Given the description of an element on the screen output the (x, y) to click on. 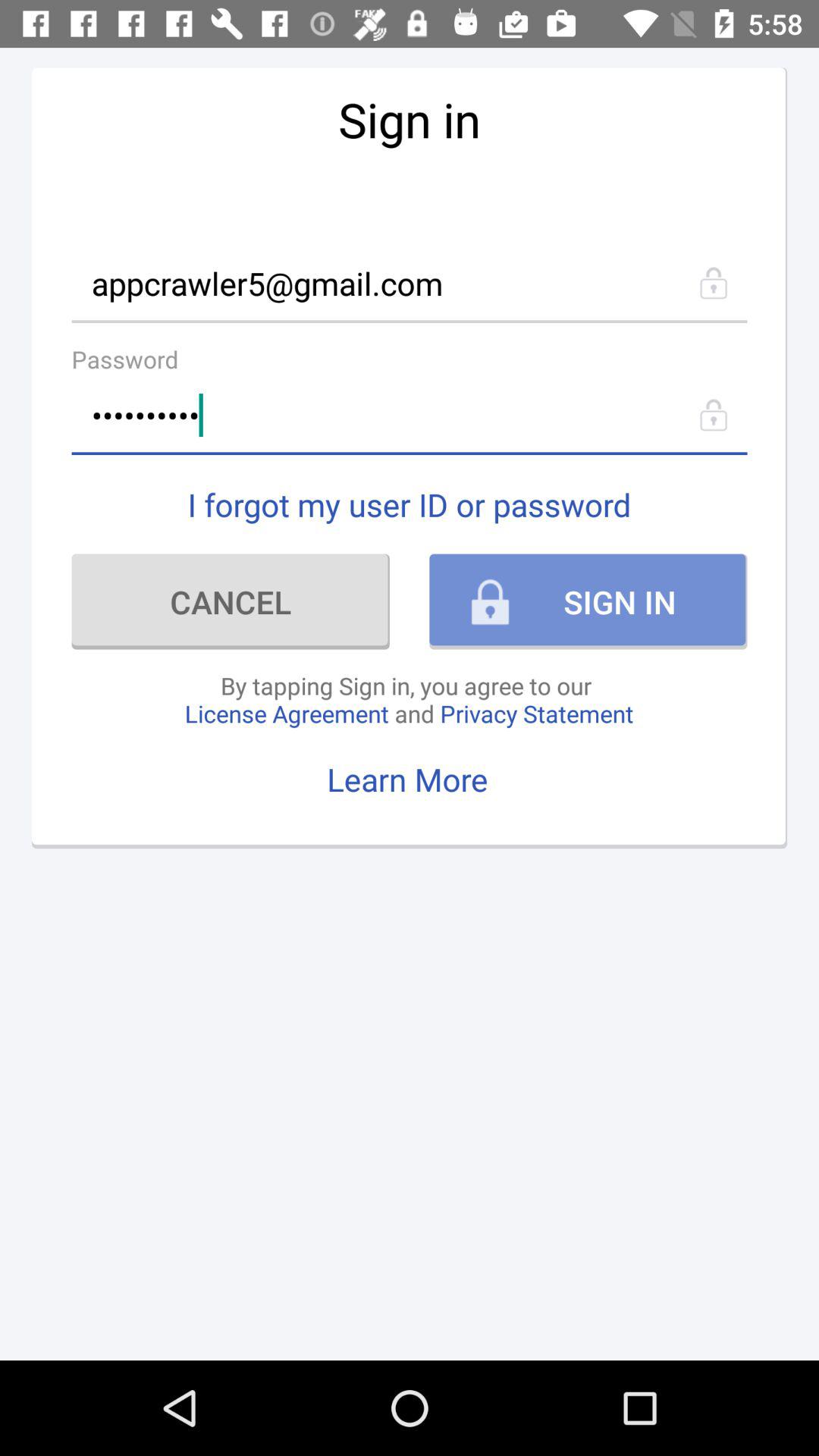
choose the by tapping sign item (408, 699)
